Given the description of an element on the screen output the (x, y) to click on. 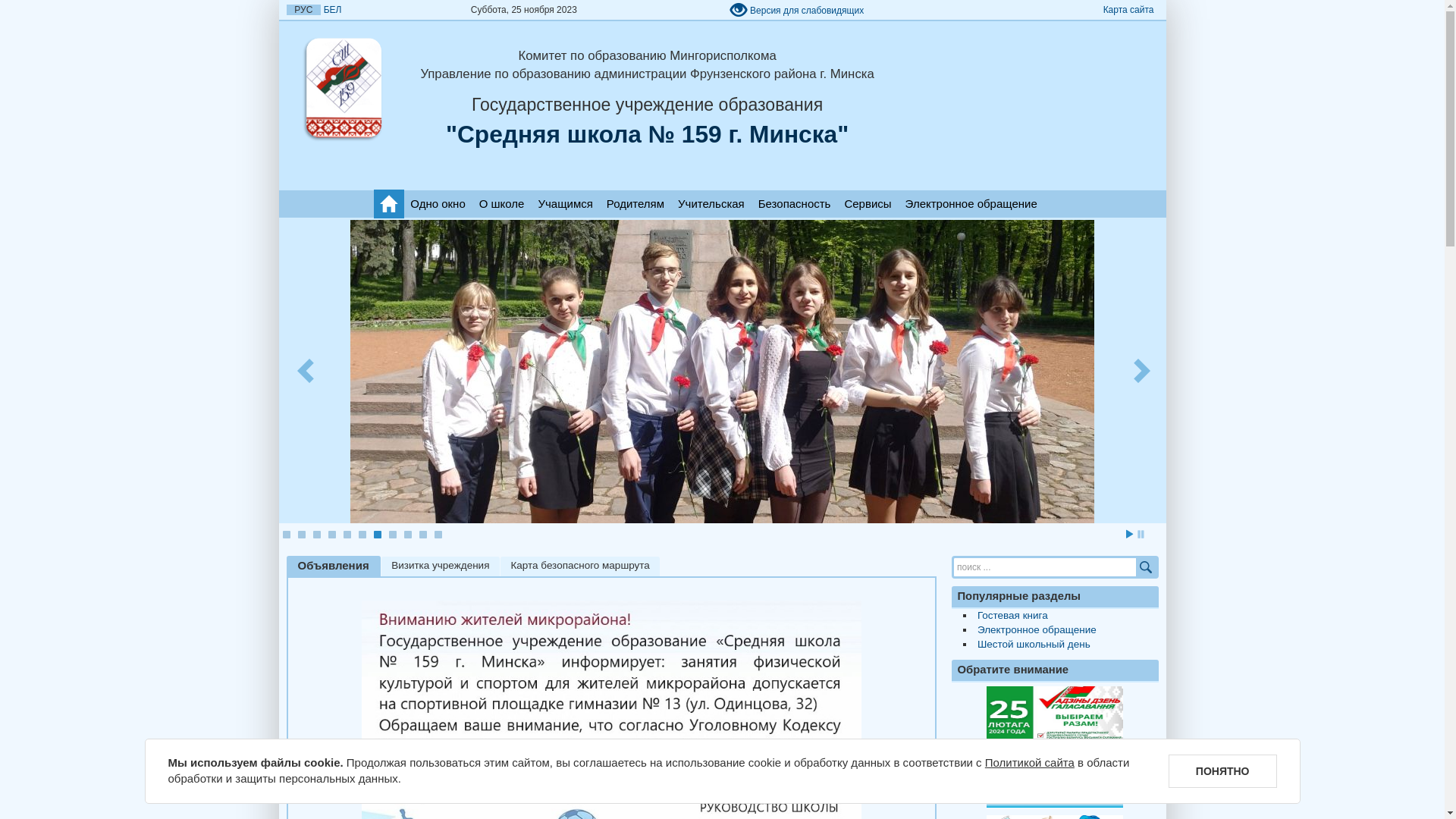
8 Element type: text (391, 534)
7 Element type: text (376, 534)
9 Element type: text (407, 534)
10 Element type: text (422, 534)
4 Element type: text (331, 534)
5 Element type: text (346, 534)
2 Element type: text (300, 534)
11 Element type: text (437, 534)
3 Element type: text (316, 534)
1 Element type: text (285, 534)
6 Element type: text (361, 534)
